Given the description of an element on the screen output the (x, y) to click on. 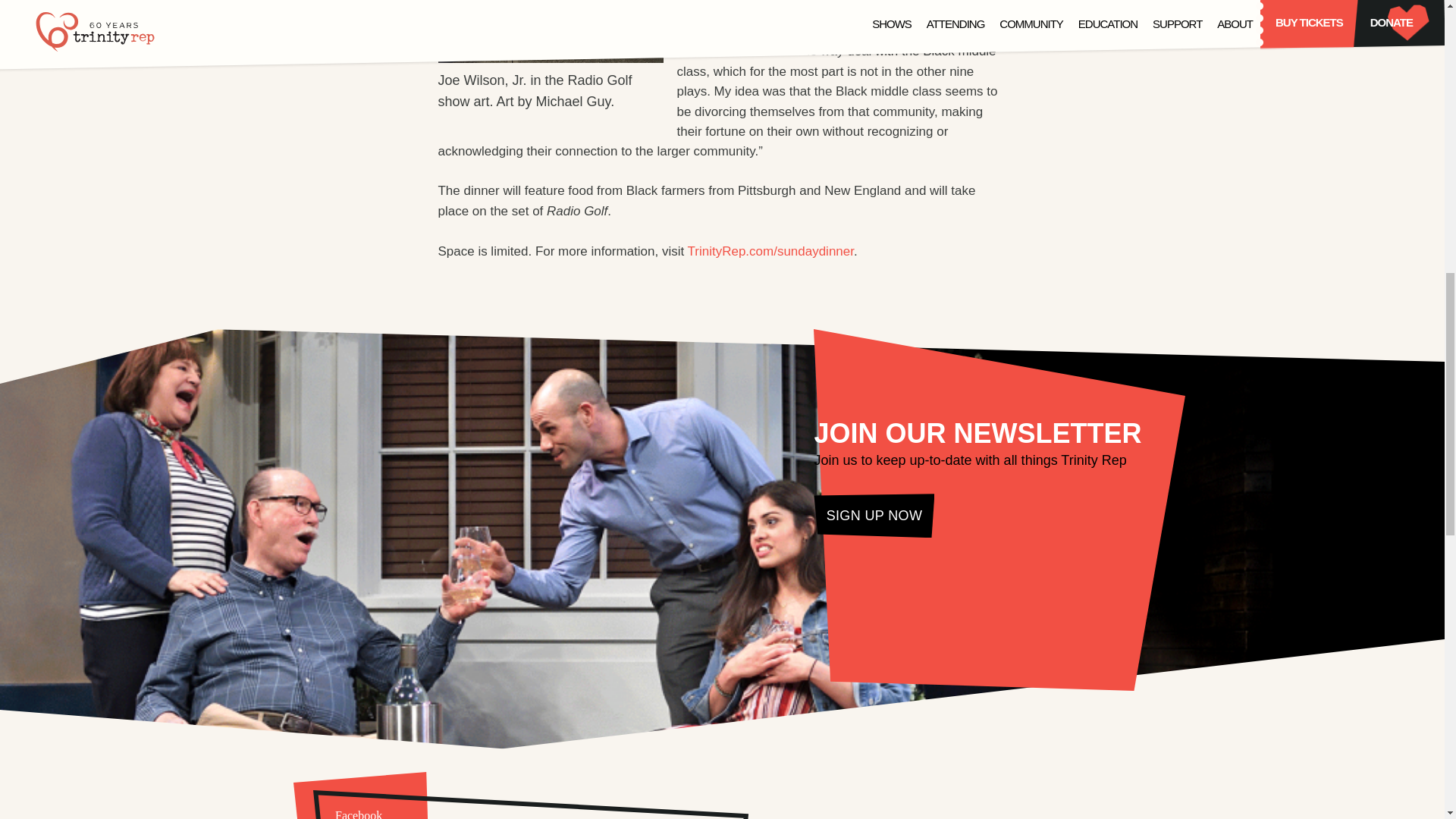
SIGN UP NOW (873, 515)
Facebook (360, 795)
